Given the description of an element on the screen output the (x, y) to click on. 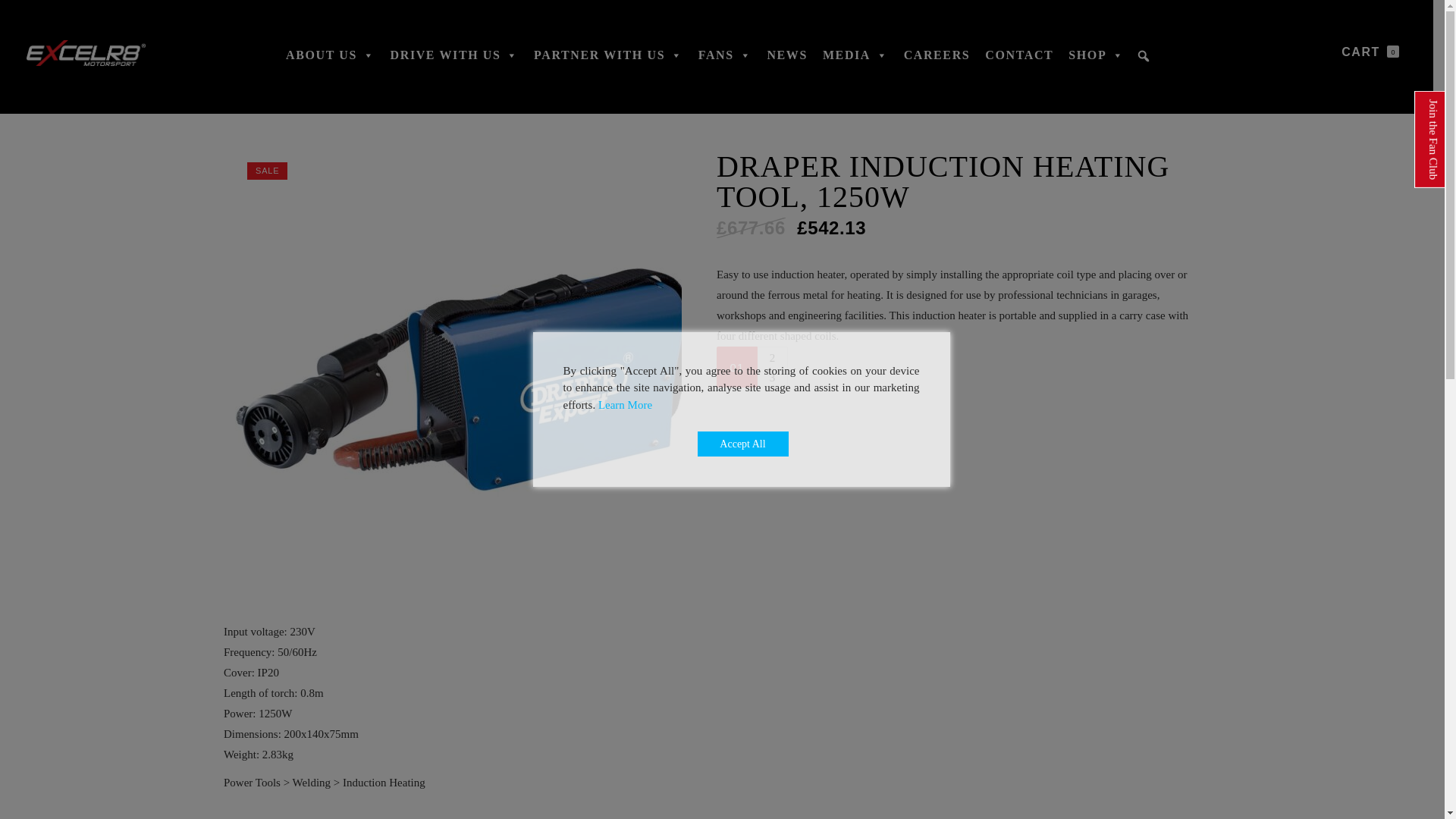
ABOUT US (329, 62)
NEWS (786, 62)
01 (736, 366)
Qty (736, 366)
FANS (725, 62)
CONTACT (1018, 62)
MEDIA (855, 62)
SHOP (1096, 62)
DRIVE WITH US (453, 62)
CAREERS (937, 62)
